Given the description of an element on the screen output the (x, y) to click on. 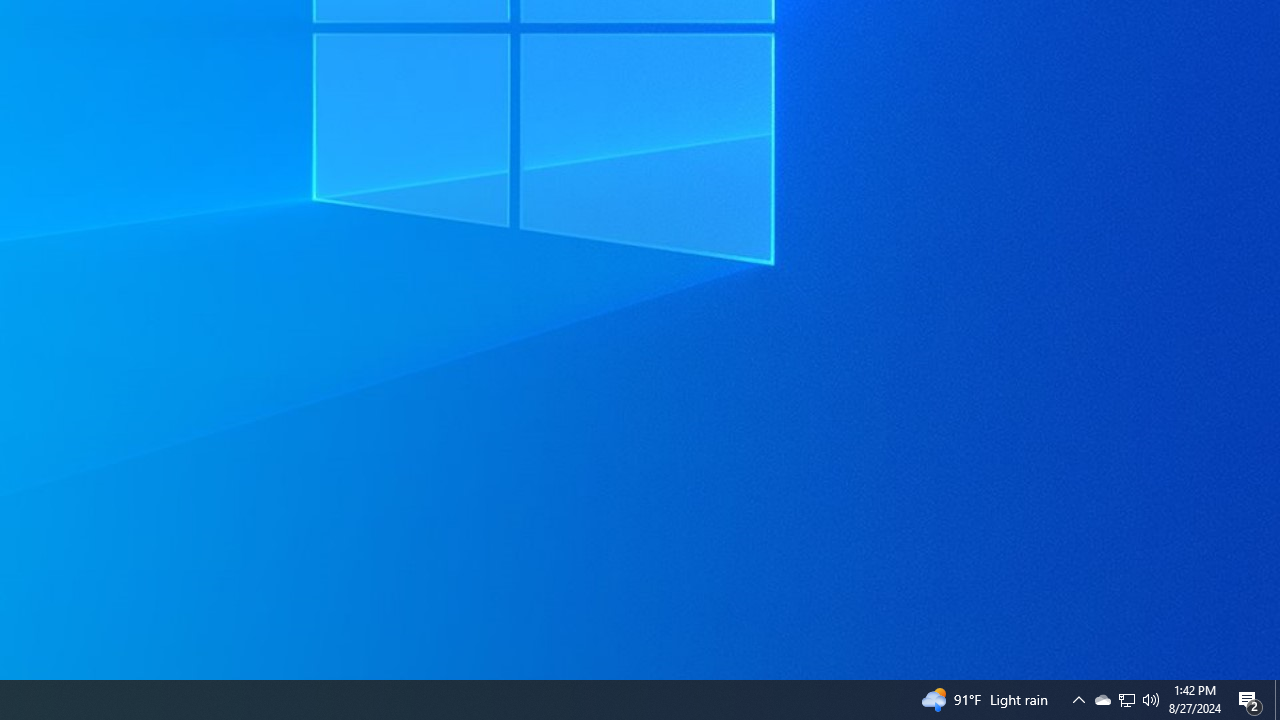
Show desktop (1277, 699)
User Promoted Notification Area (1126, 699)
Q2790: 100% (1126, 699)
Notification Chevron (1151, 699)
Action Center, 2 new notifications (1078, 699)
